Given the description of an element on the screen output the (x, y) to click on. 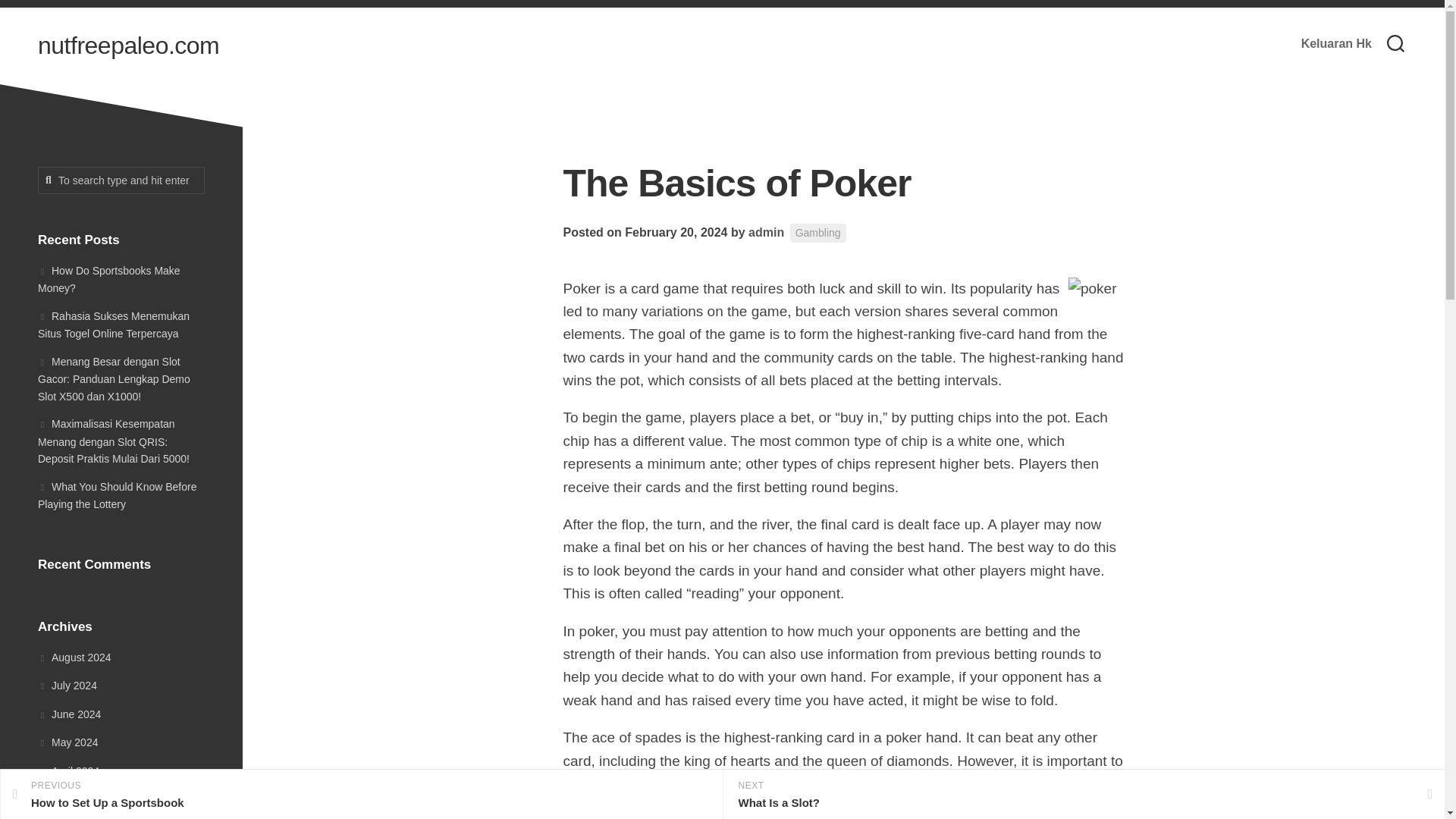
April 2024 (68, 770)
May 2024 (67, 742)
nutfreepaleo.com (128, 44)
Rahasia Sukses Menemukan Situs Togel Online Terpercaya (113, 324)
July 2024 (67, 685)
Keluaran Hk (1336, 43)
Posts by admin (766, 232)
March 2024 (72, 799)
admin (766, 232)
Gambling (817, 232)
